Given the description of an element on the screen output the (x, y) to click on. 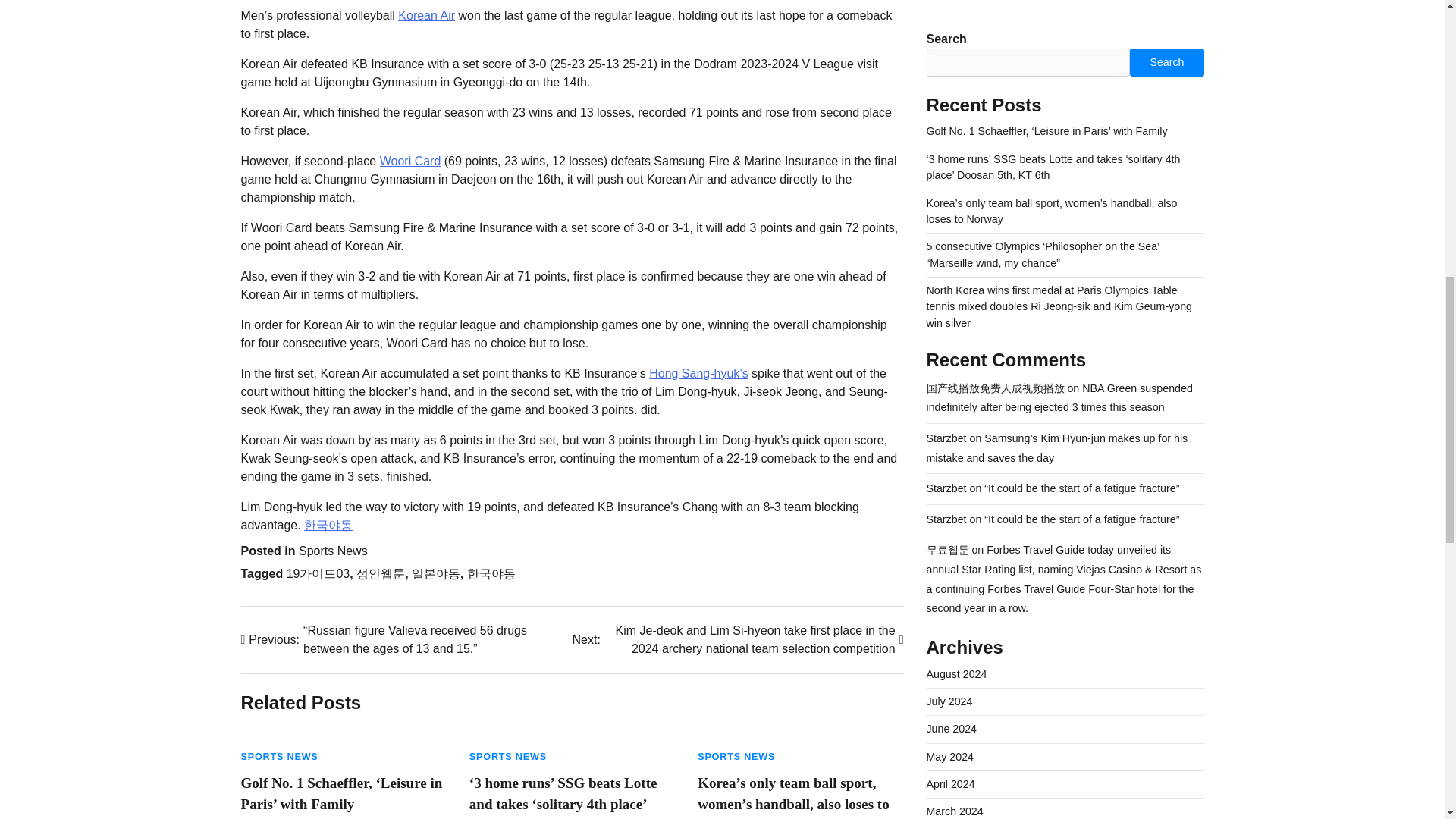
Korean Air (425, 15)
SPORTS NEWS (279, 756)
Sports News (333, 550)
SPORTS NEWS (507, 756)
SPORTS NEWS (735, 756)
Woori Card (410, 160)
